Given the description of an element on the screen output the (x, y) to click on. 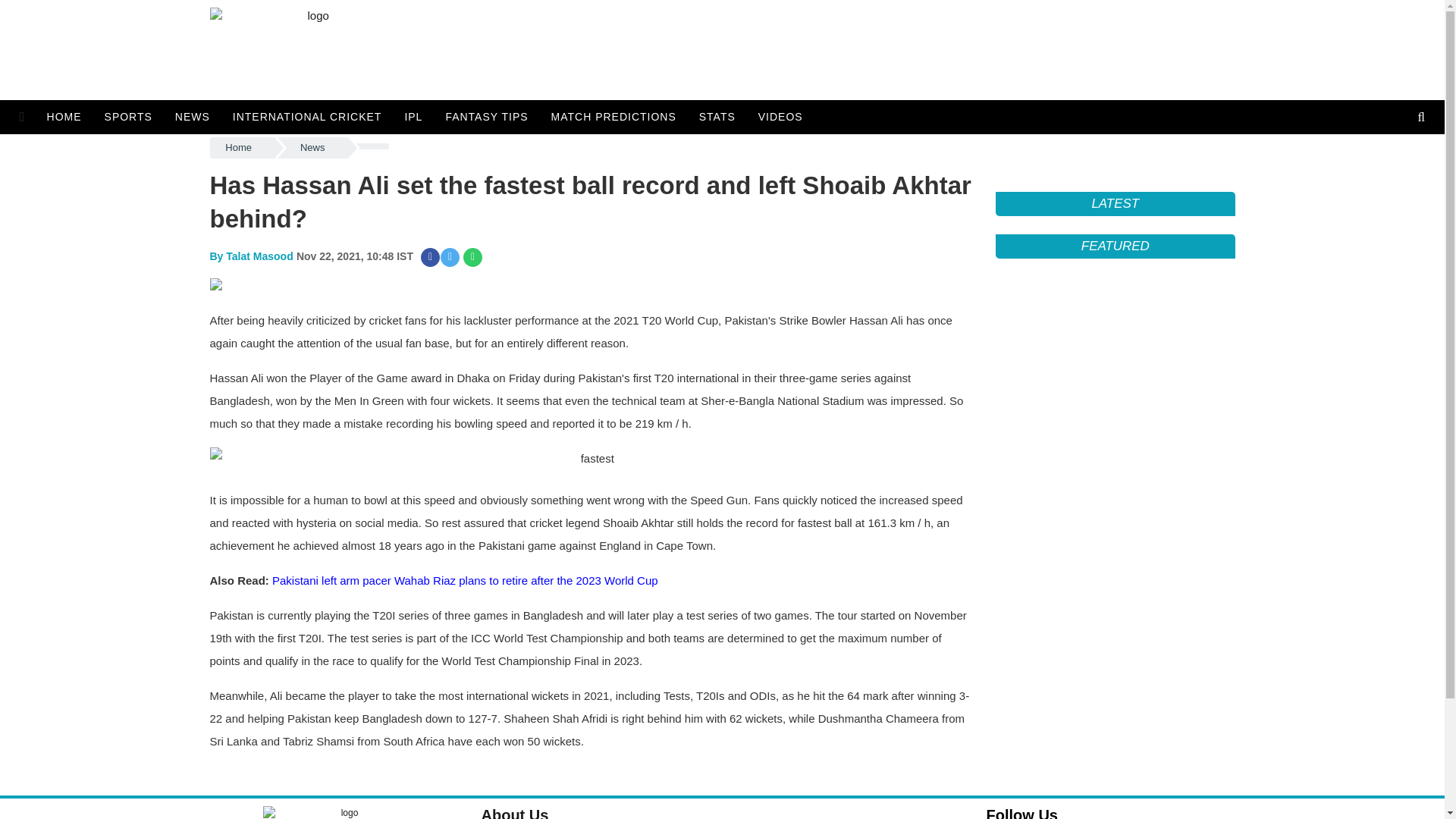
About Us (514, 812)
INTERNATIONAL CRICKET (307, 116)
News (312, 147)
IPL (413, 116)
MATCH PREDICTIONS (613, 116)
Home (241, 147)
FANTASY TIPS (485, 116)
LATEST (1114, 202)
FEATURED (1114, 246)
